Given the description of an element on the screen output the (x, y) to click on. 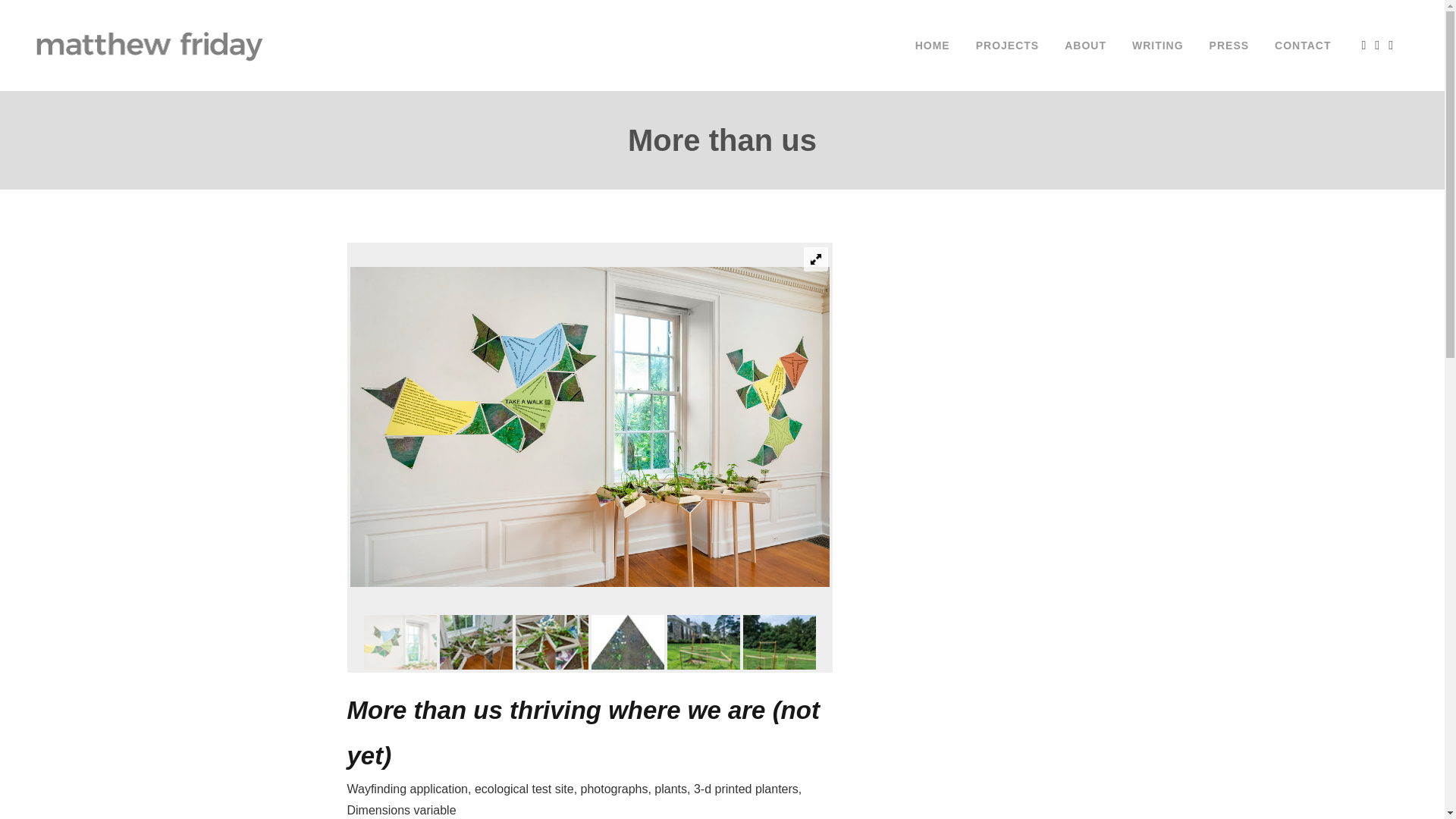
PROJECTS (1006, 45)
CONTACT (1302, 45)
